Given the description of an element on the screen output the (x, y) to click on. 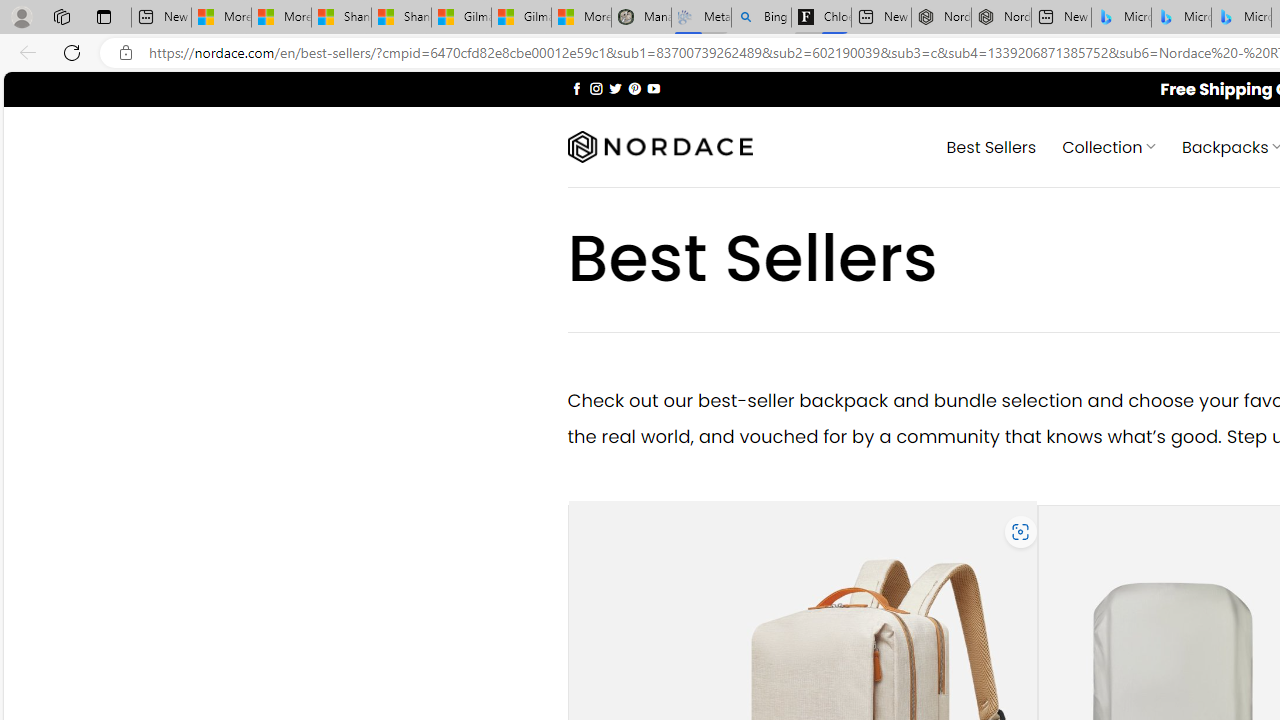
Follow on Facebook (576, 88)
Chloe Sorvino (821, 17)
Follow on YouTube (653, 88)
 Best Sellers (990, 146)
Follow on Instagram (596, 88)
  Best Sellers (990, 146)
Bing Real Estate - Home sales and rental listings (761, 17)
